Given the description of an element on the screen output the (x, y) to click on. 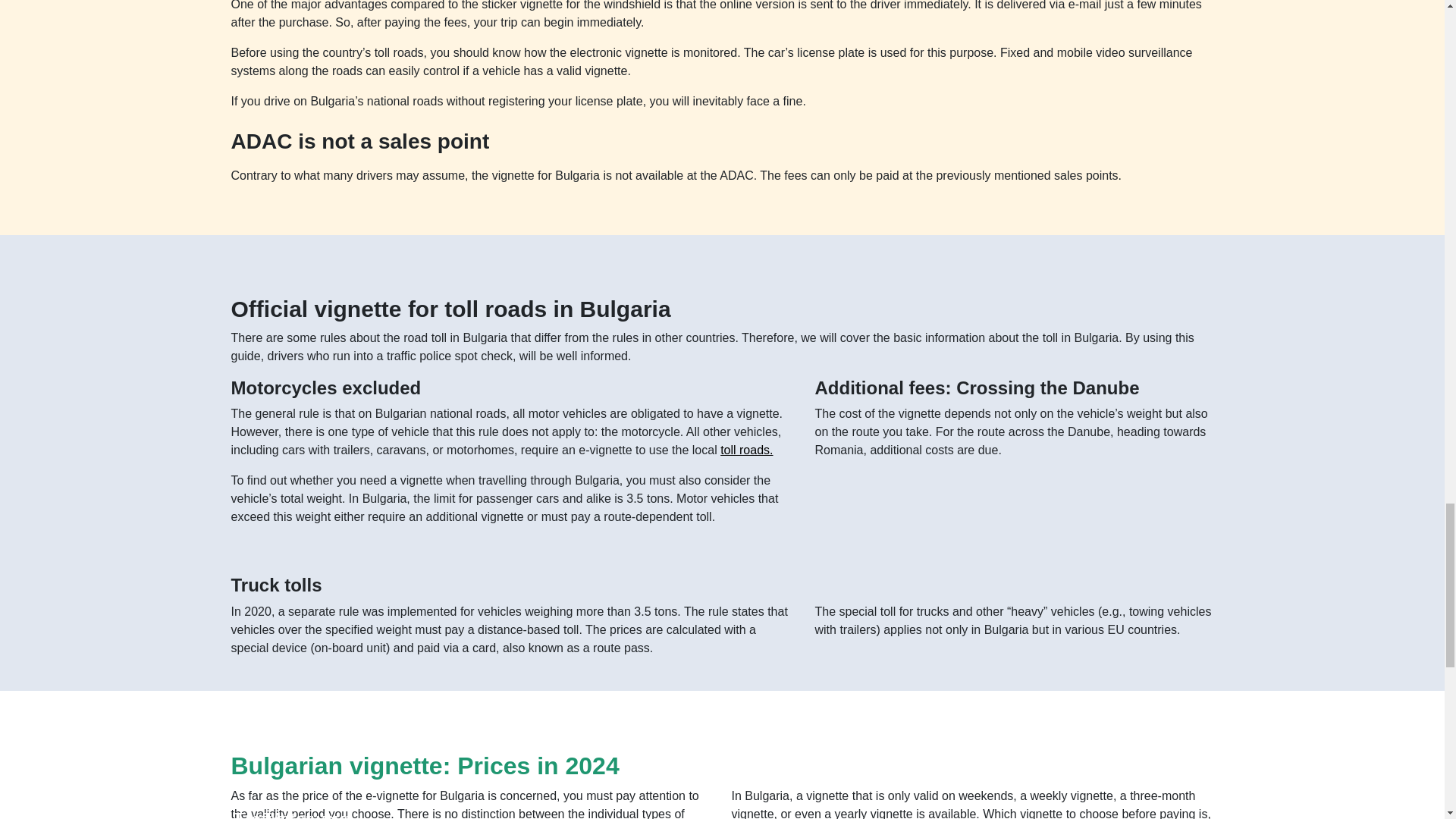
toll roads. (746, 449)
